Given the description of an element on the screen output the (x, y) to click on. 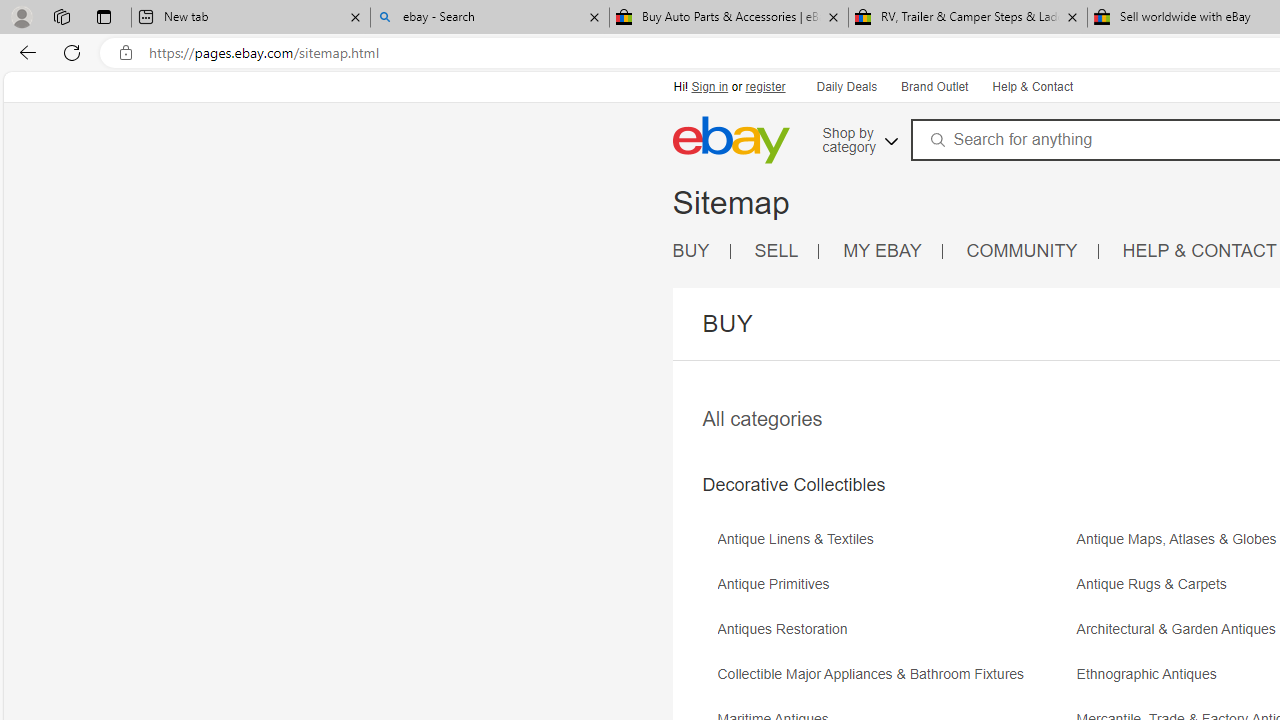
Ethnographic Antiques (1151, 673)
Antiques Restoration (786, 629)
Antique Primitives (894, 591)
Sign in (710, 86)
MY EBAY (882, 250)
BUY (701, 251)
Daily Deals (847, 88)
Shop by category (857, 137)
register (764, 86)
SELL (775, 250)
Antique Rugs & Carpets (1156, 583)
Brand Outlet (933, 86)
Help & Contact (1031, 86)
